Given the description of an element on the screen output the (x, y) to click on. 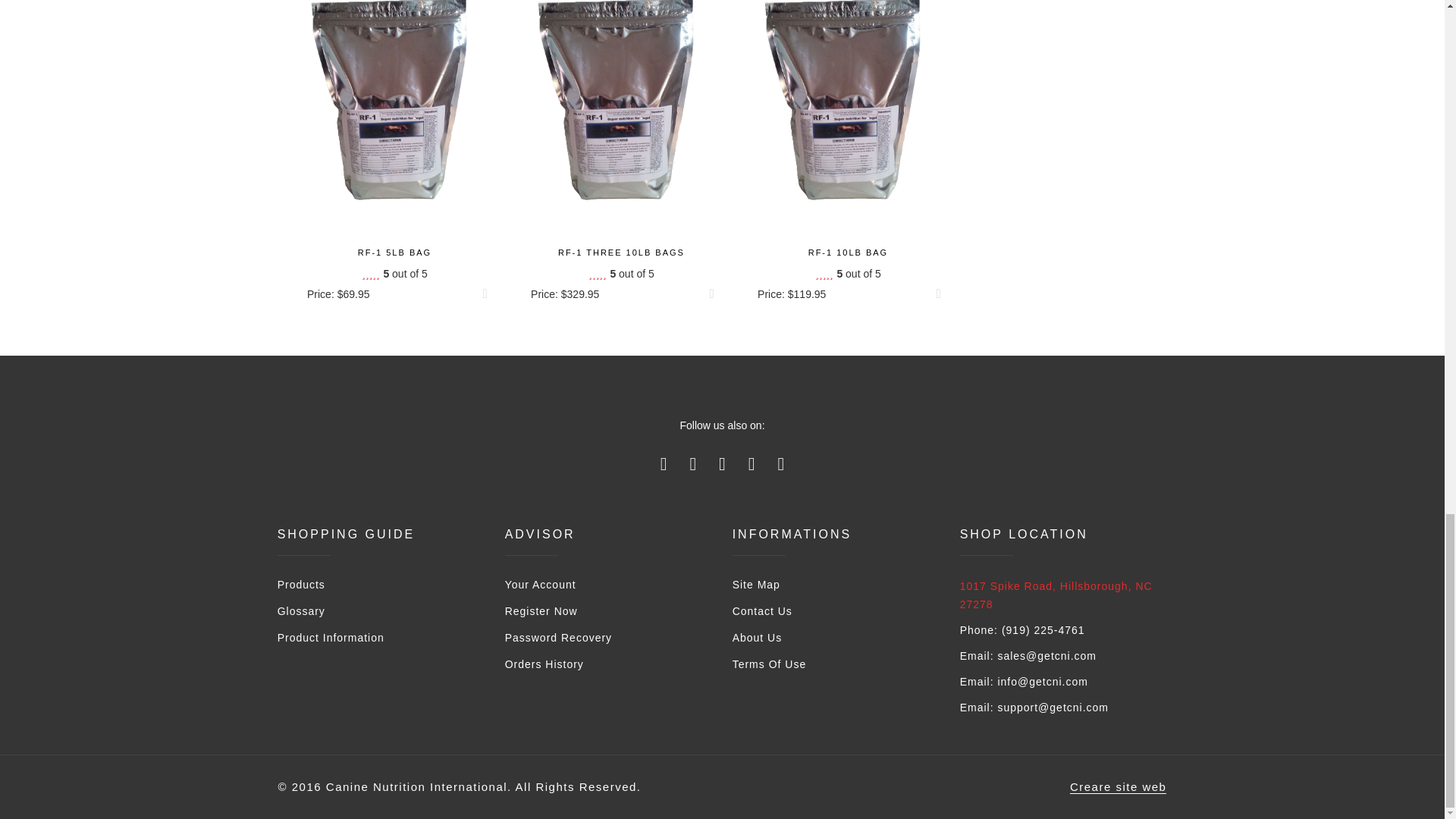
Rated 5 out of 5 (848, 273)
Rated 5 out of 5 (620, 273)
Rated 5 out of 5 (393, 273)
Creare site web (1118, 787)
